Given the description of an element on the screen output the (x, y) to click on. 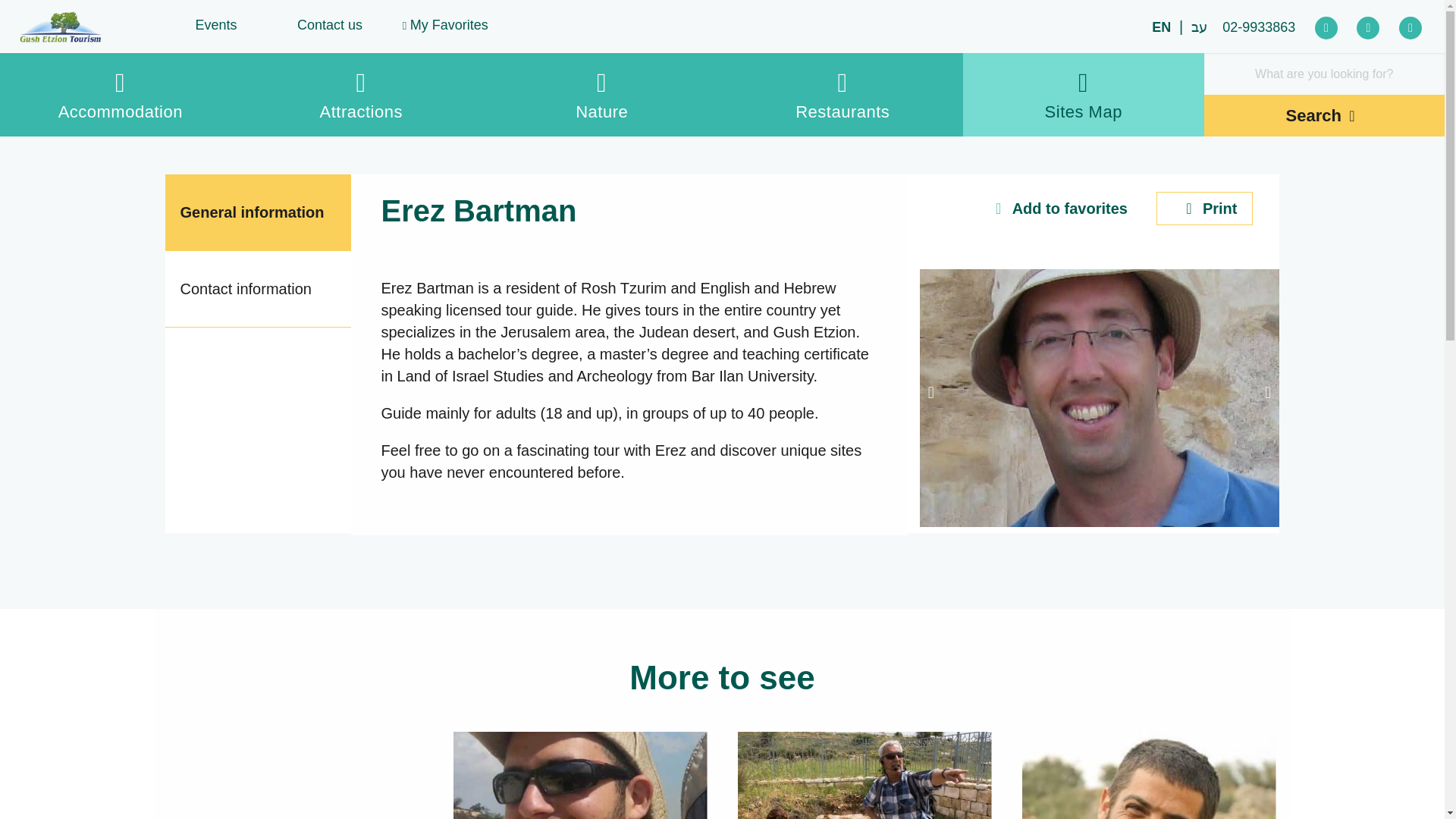
Contact us (330, 28)
My Favorites (443, 28)
EN (1160, 27)
Events (215, 28)
02-9933863 (1259, 27)
